Given the description of an element on the screen output the (x, y) to click on. 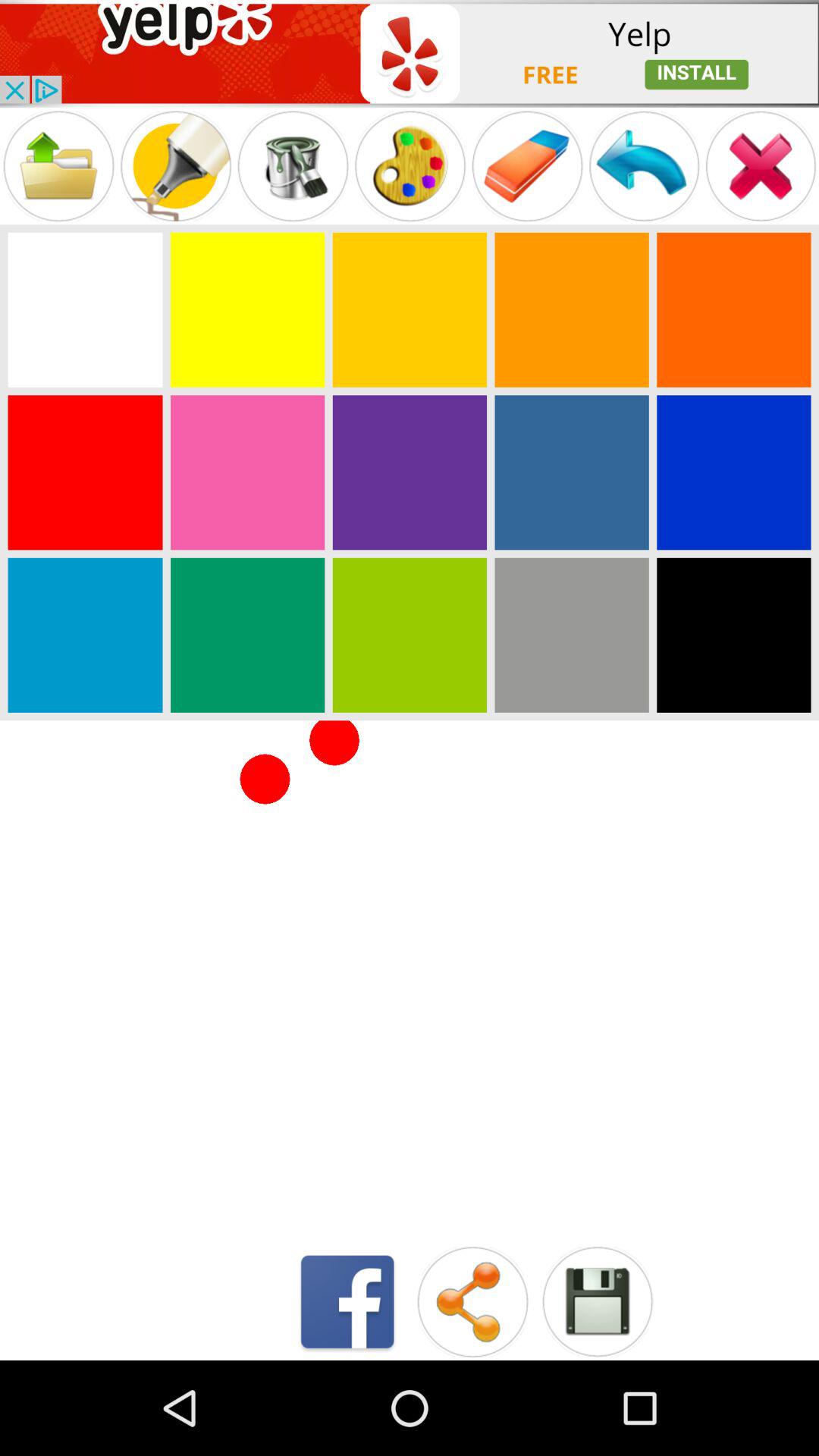
share (472, 1301)
